Given the description of an element on the screen output the (x, y) to click on. 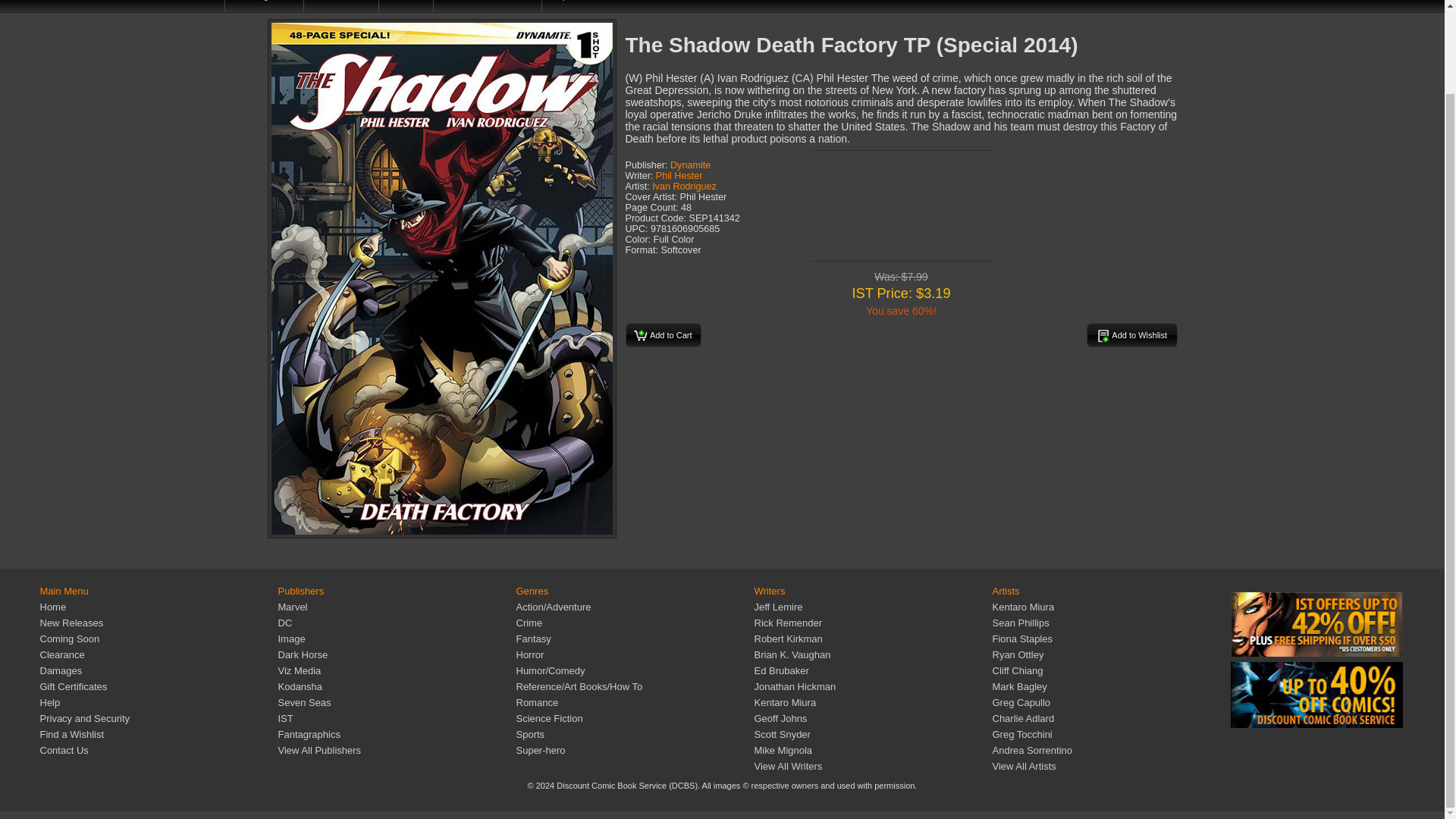
Publishers (341, 6)
Phil Hester (679, 175)
New Releases (184, 6)
Featured Creators (488, 6)
Add to Wishlist (1131, 334)
Sales (406, 6)
Top Sellers (575, 6)
Account (1396, 6)
Add to Cart (662, 334)
Home (52, 606)
Coming Soon (264, 6)
New Releases (71, 622)
Dynamite (689, 164)
Coming Soon (69, 638)
Ivan Rodriguez (684, 185)
